Given the description of an element on the screen output the (x, y) to click on. 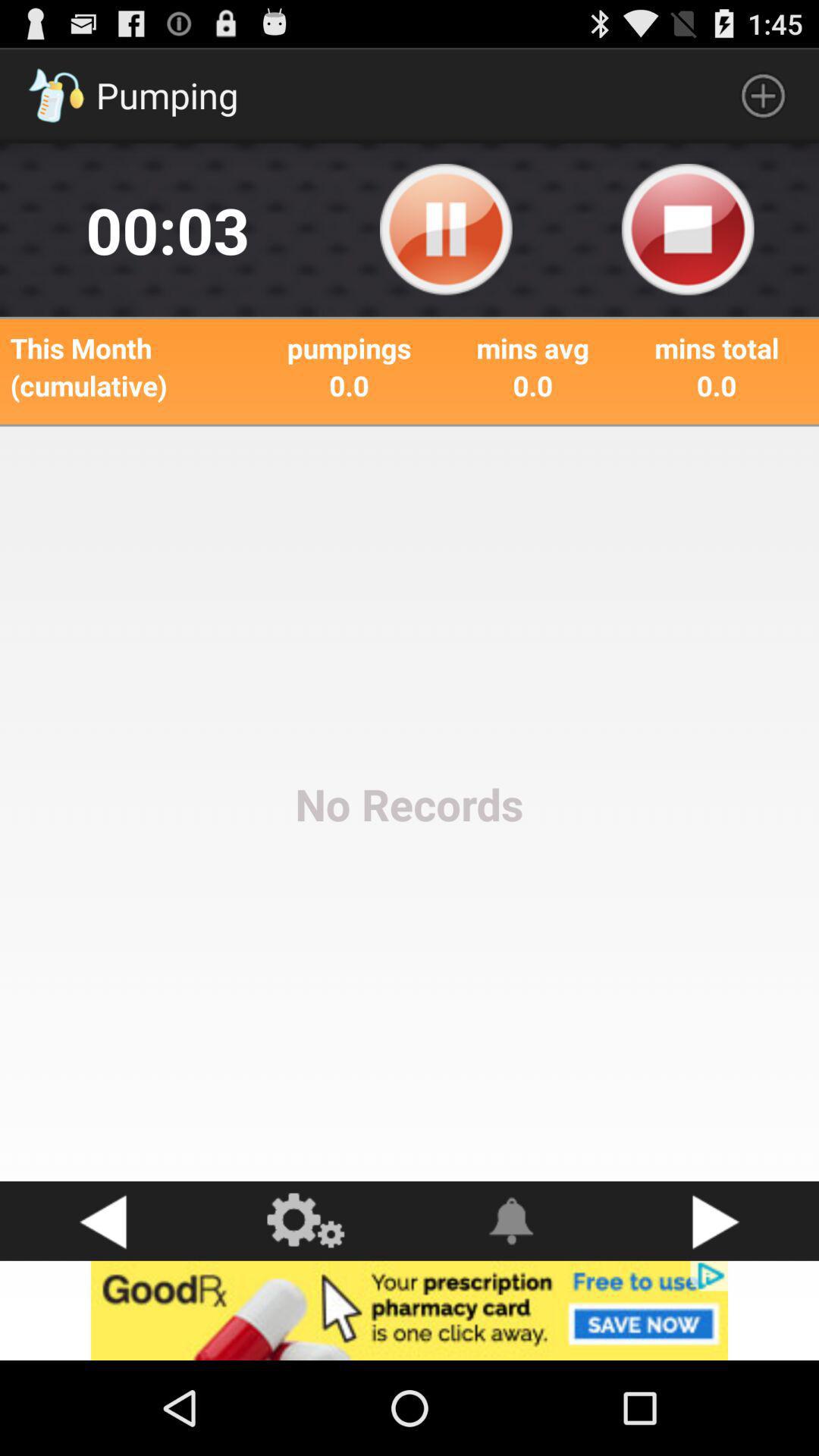
pause (445, 229)
